Given the description of an element on the screen output the (x, y) to click on. 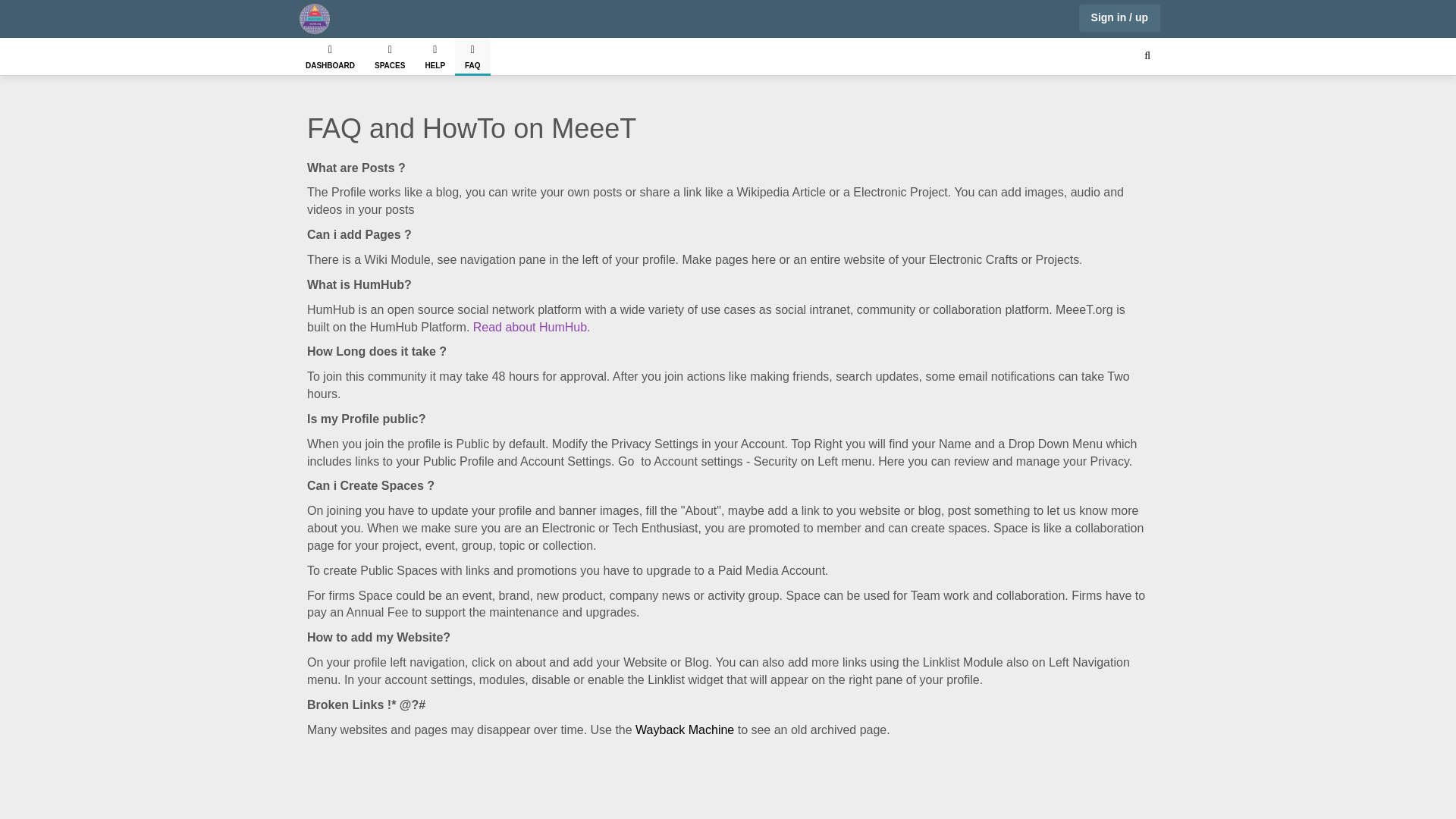
HELP (434, 56)
FAQ (472, 55)
DASHBOARD (330, 56)
Read about HumHub (529, 326)
SPACES (389, 56)
Wayback Machine (683, 729)
